Given the description of an element on the screen output the (x, y) to click on. 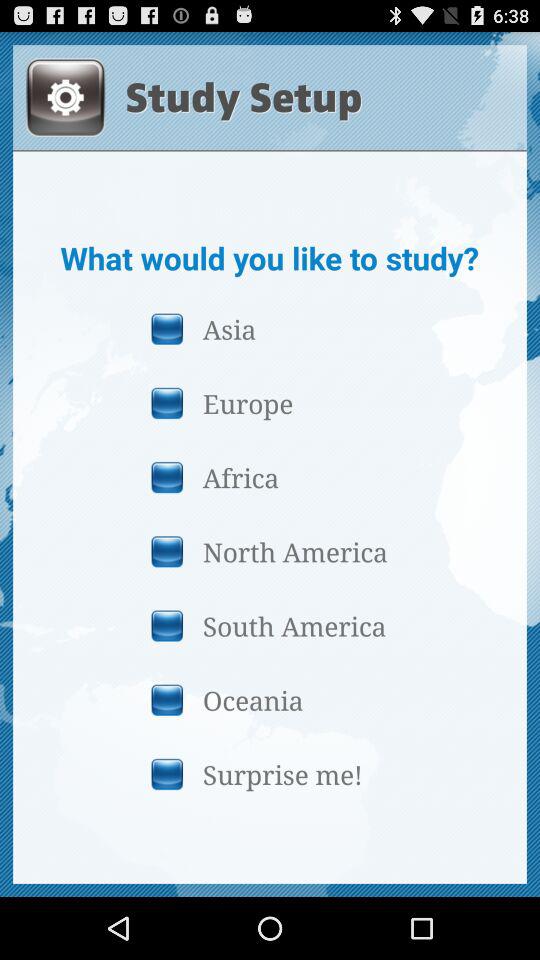
scroll until north america item (269, 551)
